Given the description of an element on the screen output the (x, y) to click on. 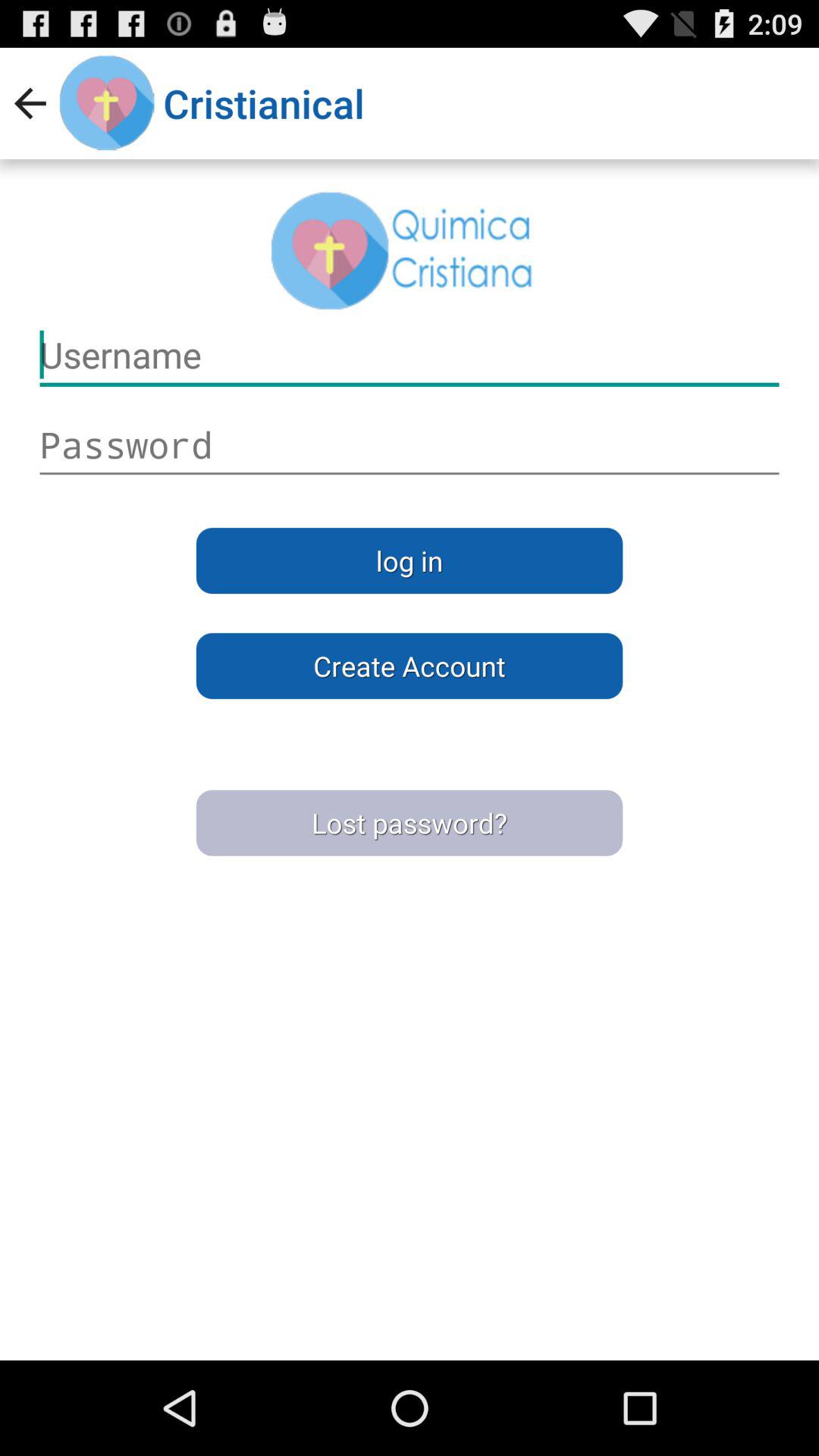
launch the icon above lost password? item (409, 665)
